Given the description of an element on the screen output the (x, y) to click on. 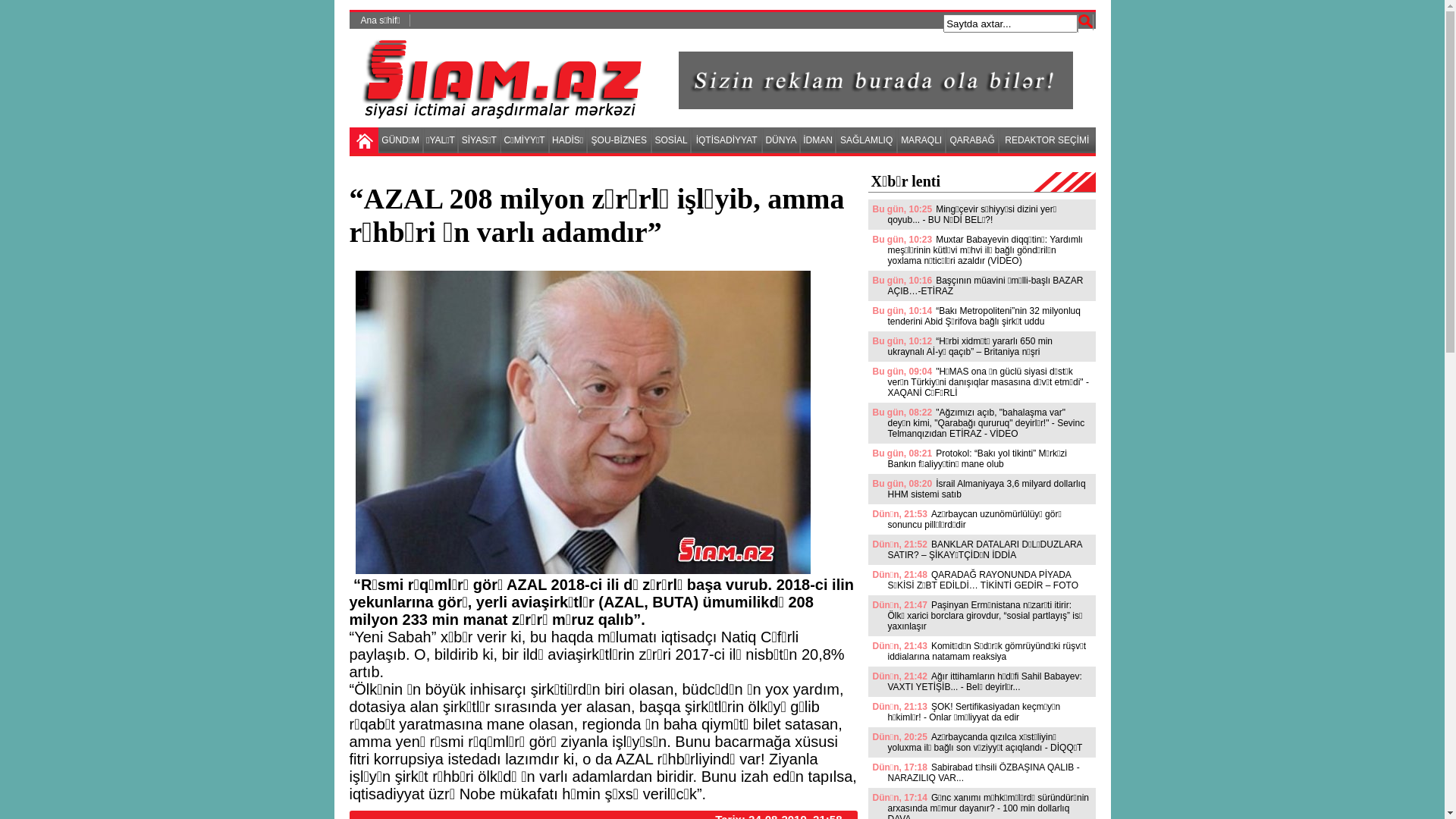
MARAQLI Element type: text (921, 140)
axtar Element type: hover (1085, 21)
